Given the description of an element on the screen output the (x, y) to click on. 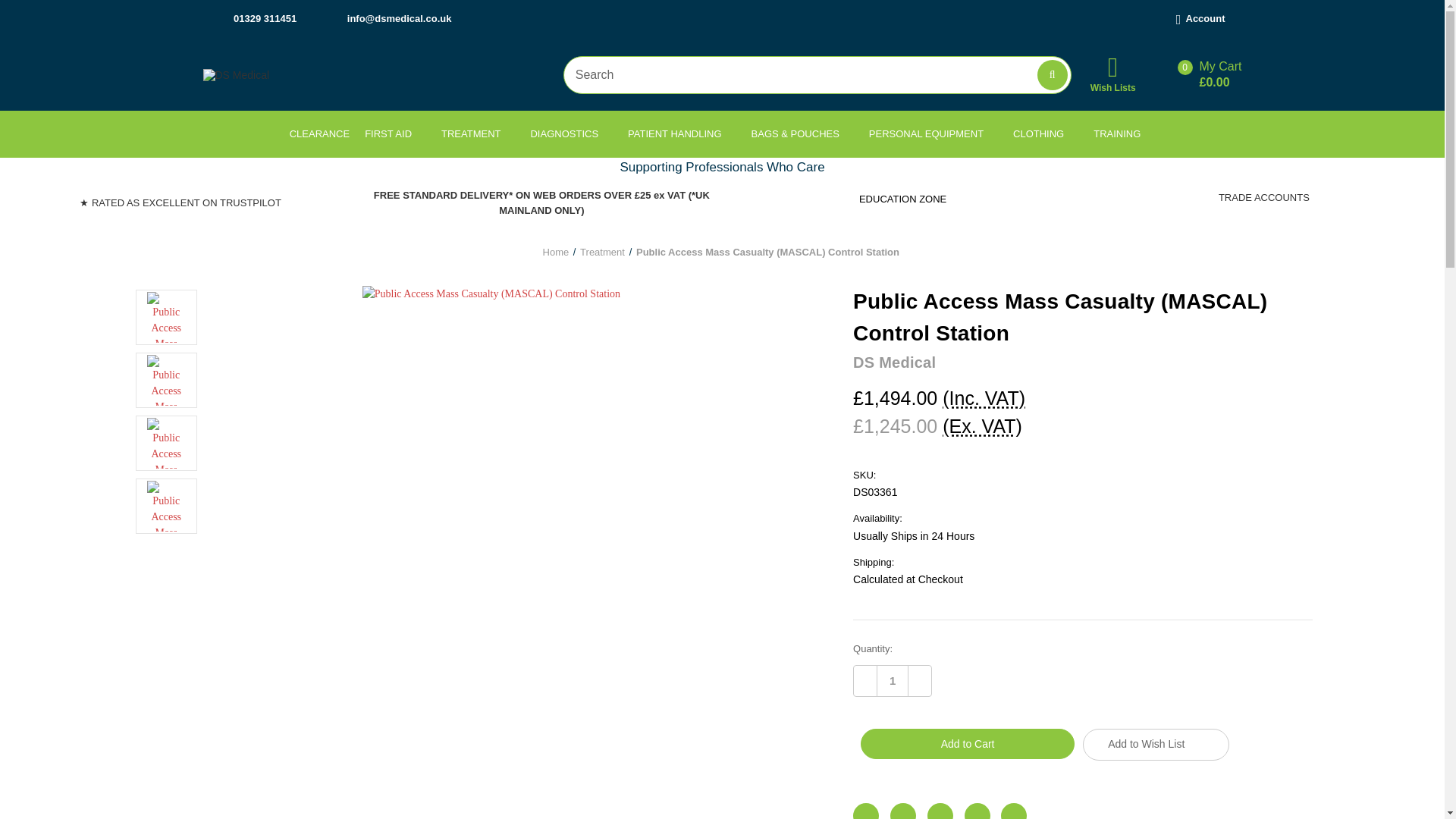
01329 311451 (258, 18)
Search (1051, 73)
Facebook (866, 811)
Account (1199, 18)
Add to Cart (967, 743)
Including Tax (983, 397)
Twitter (976, 811)
Linkedin (1013, 811)
1 (892, 680)
Excluding Tax (982, 425)
